Given the description of an element on the screen output the (x, y) to click on. 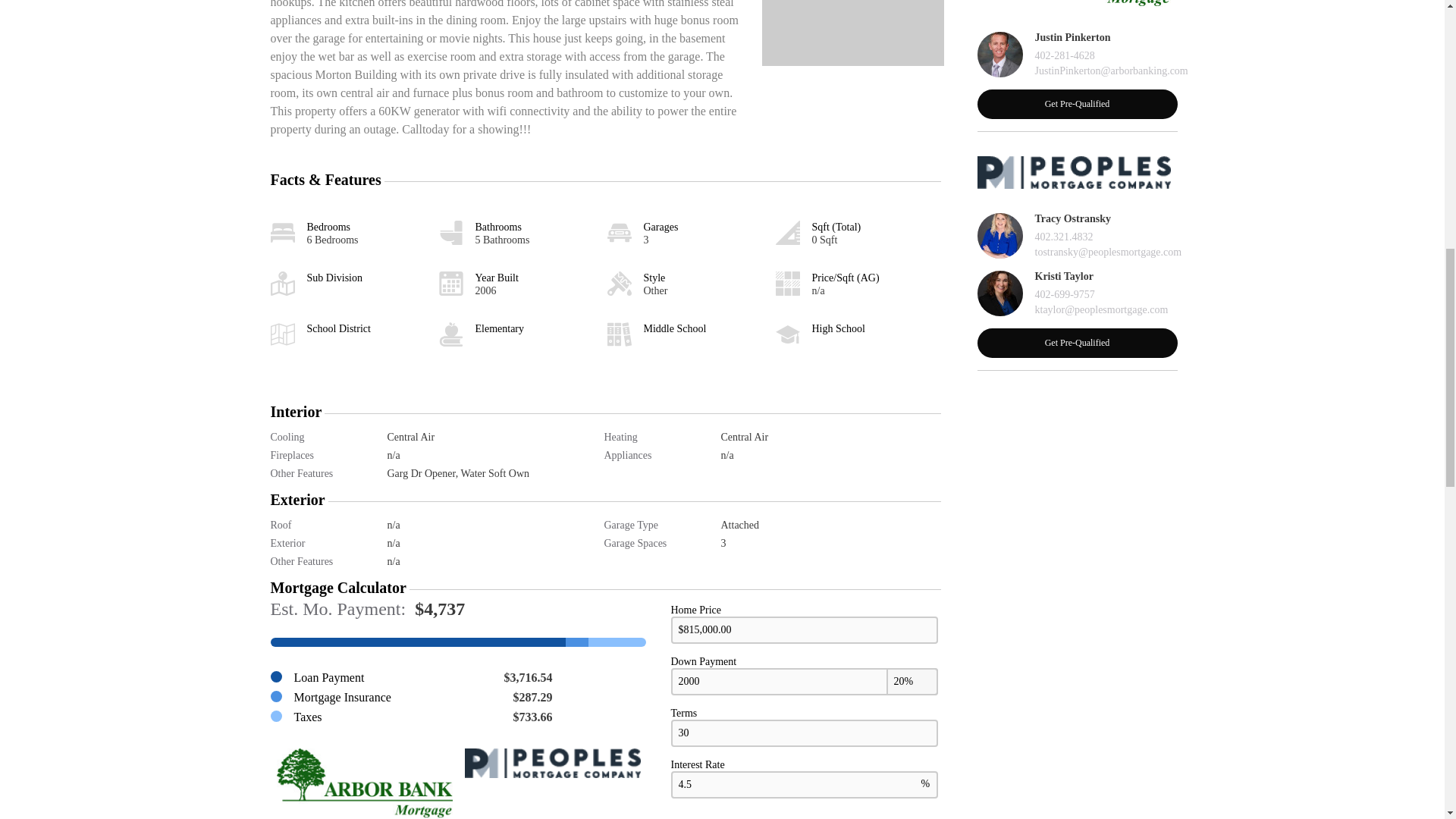
Get Pre-Qualified (1076, 342)
2000 (803, 681)
402-699-9757 (1063, 295)
4.5 (803, 784)
30 (803, 732)
402-281-4628 (1063, 55)
Get Pre-Qualified (1076, 103)
402.321.4832 (1063, 236)
